Given the description of an element on the screen output the (x, y) to click on. 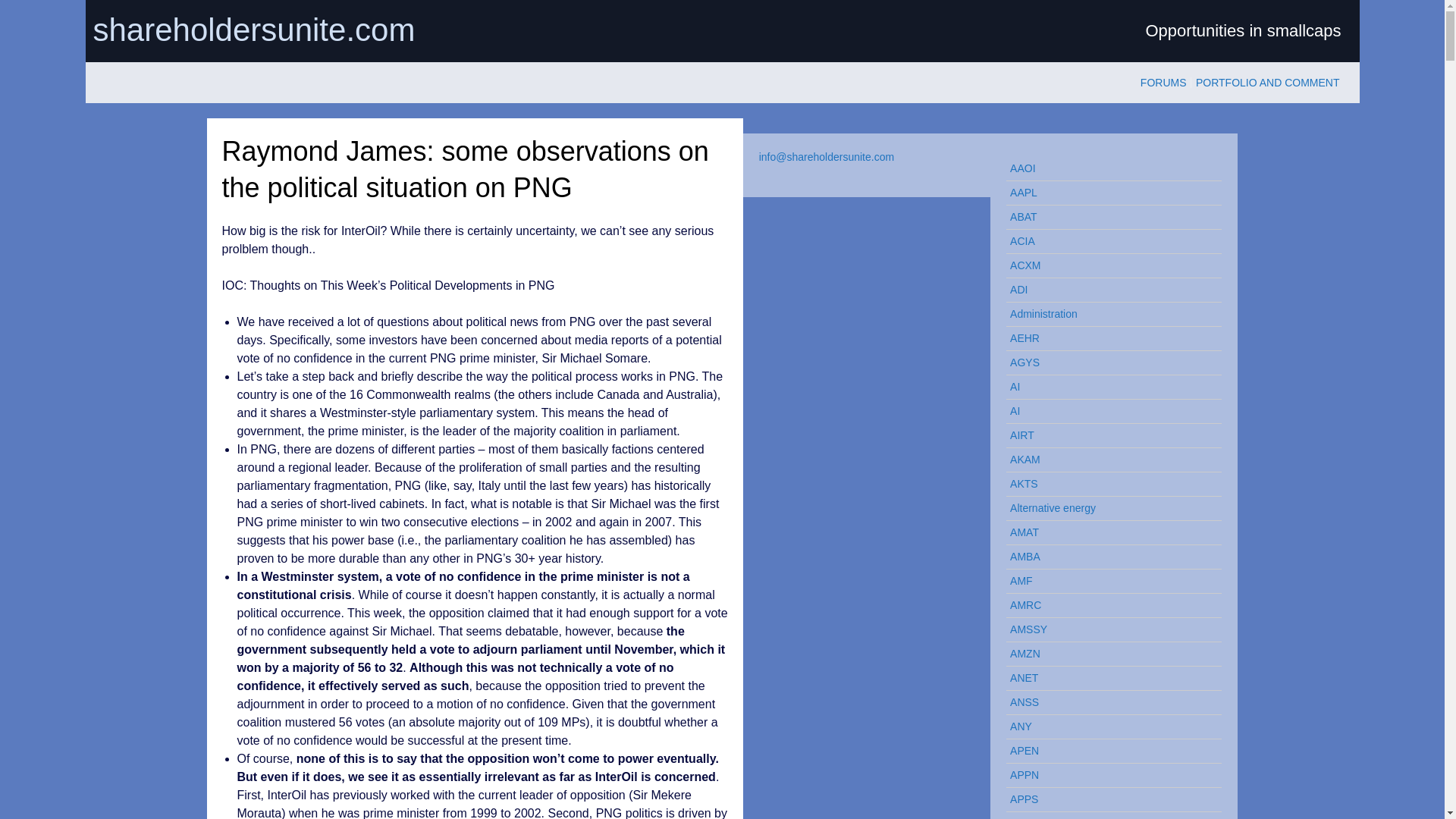
PORTFOLIO AND COMMENT (1266, 82)
AMF (1107, 580)
AI (1107, 411)
Administration (1107, 313)
AMAT (1107, 532)
AEHR (1107, 338)
ABAT (1107, 217)
ANSS (1107, 702)
AAOI (1107, 168)
AMSSY (1107, 629)
AMRC (1107, 605)
ADI (1107, 290)
FORUMS (1163, 82)
shareholdersunite.com (403, 30)
AI (1107, 386)
